Given the description of an element on the screen output the (x, y) to click on. 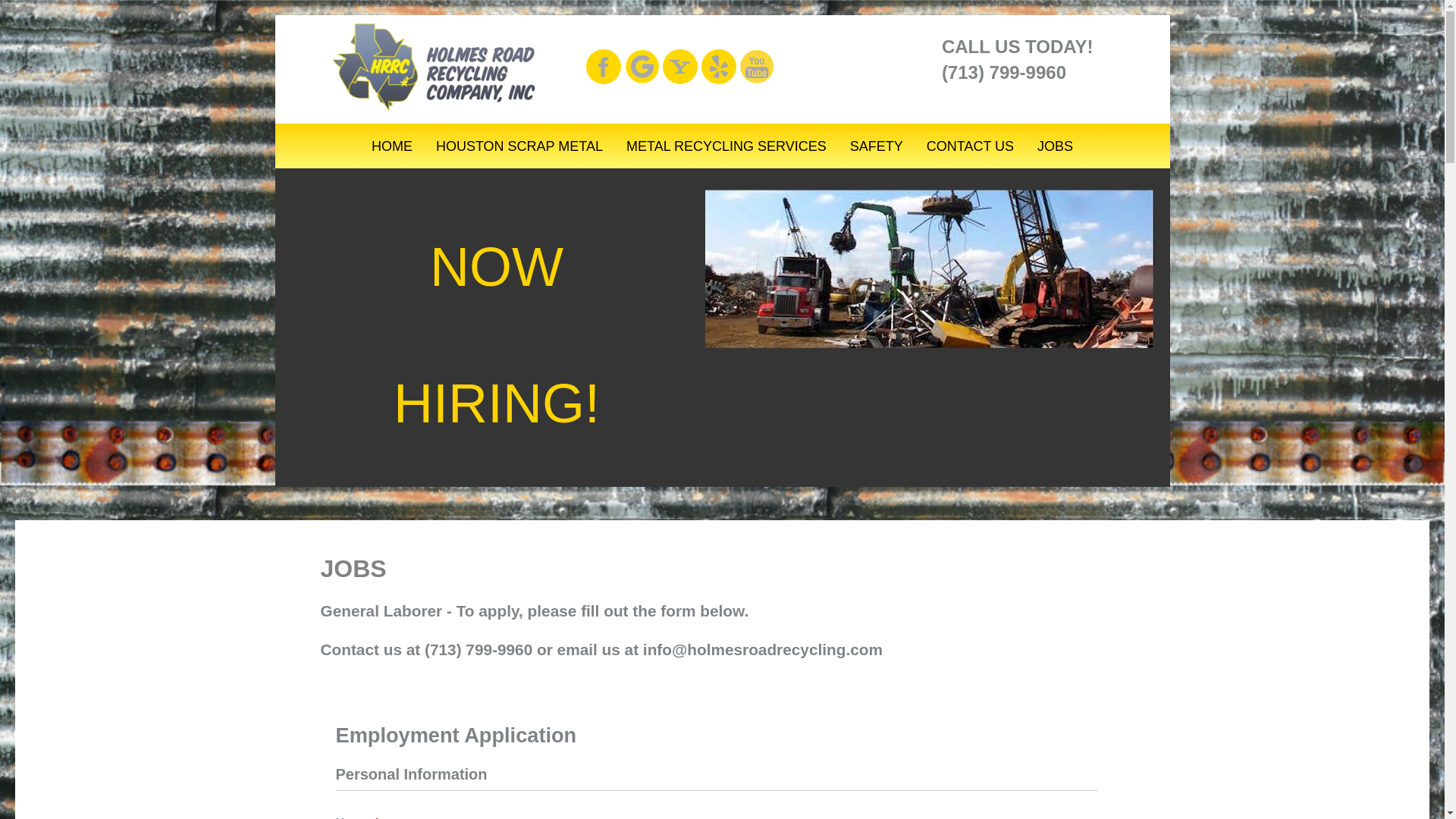
JOBS (1055, 145)
SAFETY (876, 145)
HOUSTON SCRAP METAL (519, 145)
METAL RECYCLING SERVICES (726, 145)
HOME (391, 145)
CONTACT US (970, 145)
